Given the description of an element on the screen output the (x, y) to click on. 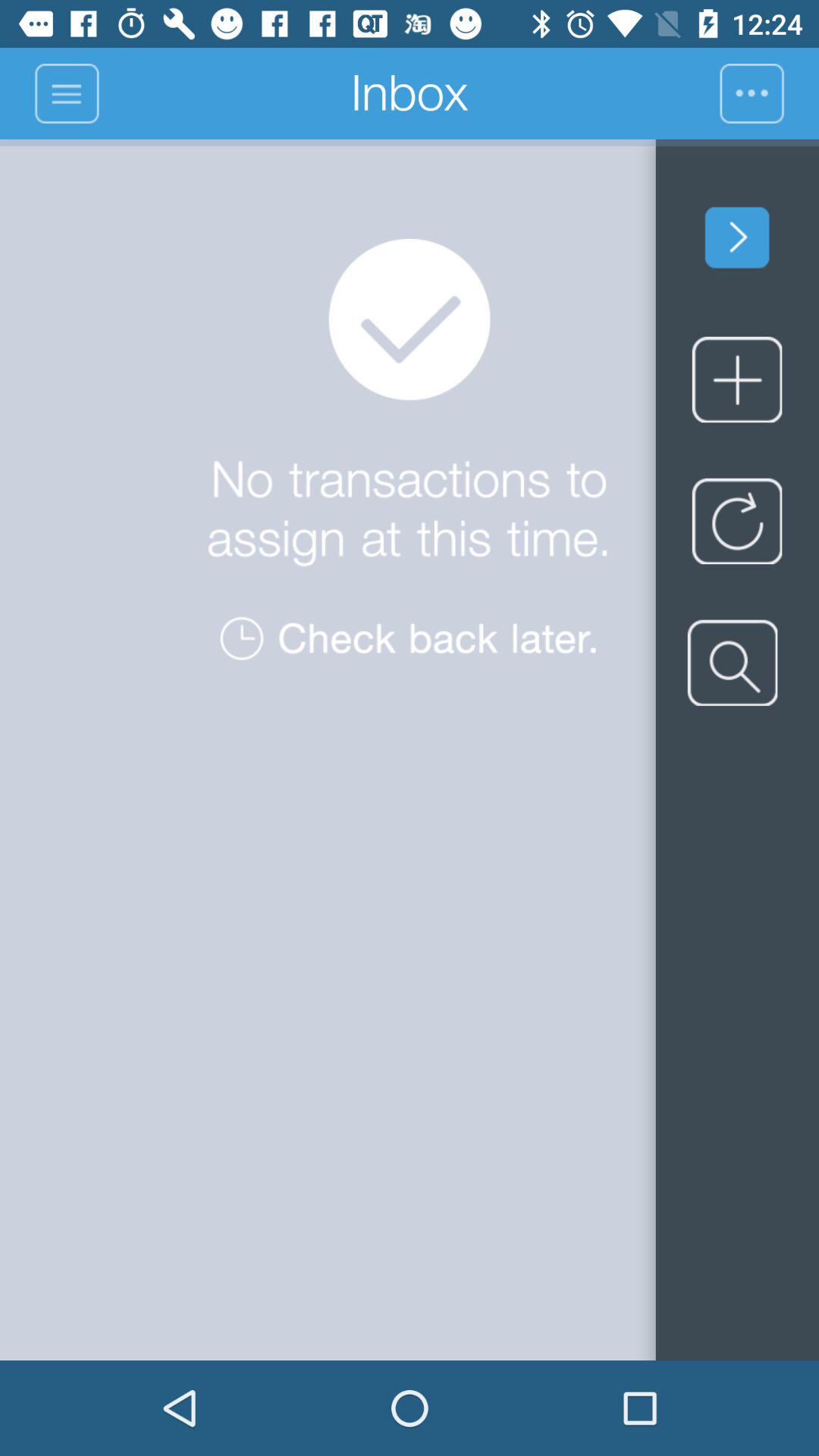
turn off icon at the top left corner (66, 93)
